Given the description of an element on the screen output the (x, y) to click on. 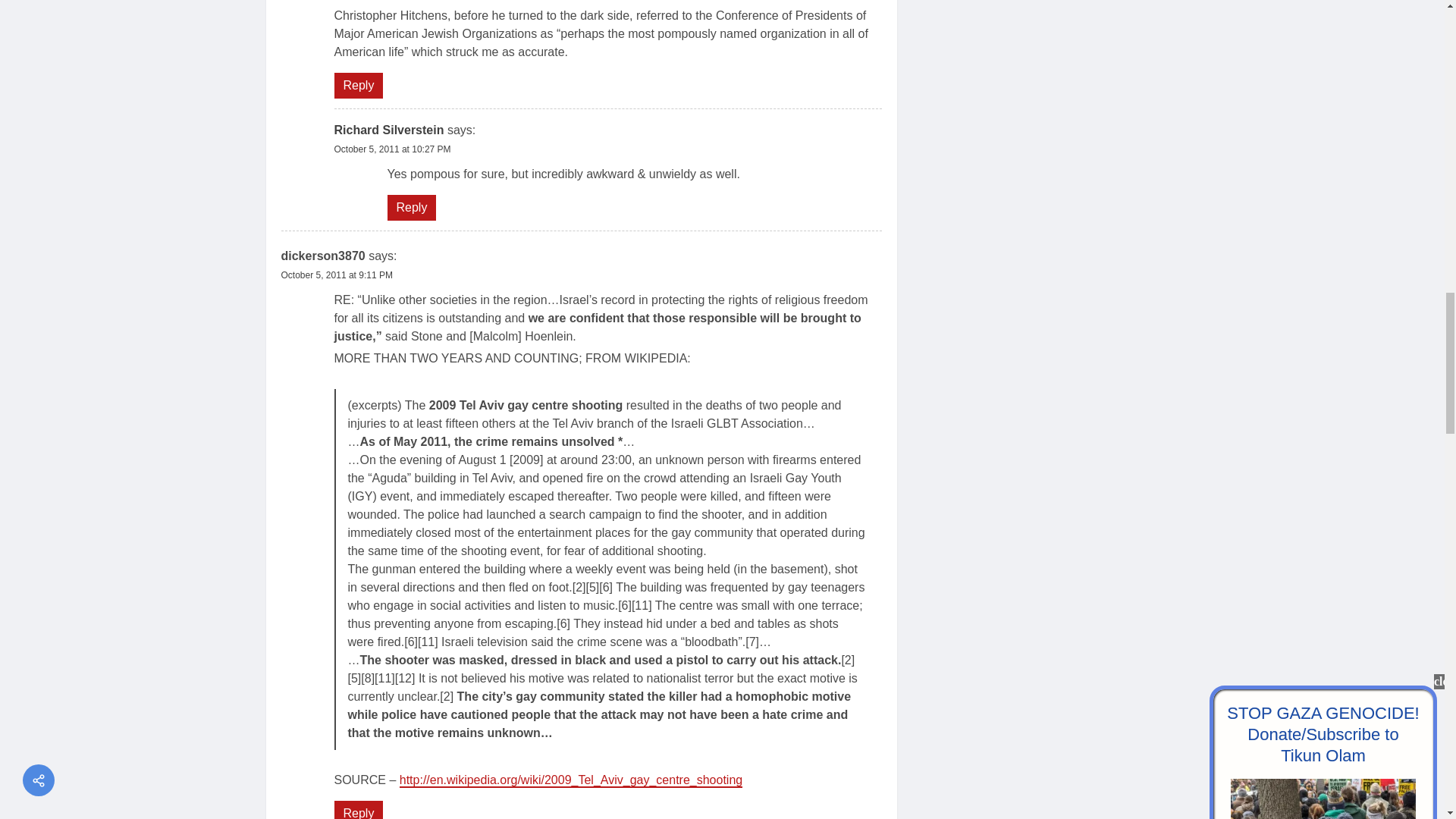
Richard Silverstein (388, 129)
October 5, 2011 at 10:27 PM (391, 149)
Reply (411, 207)
Reply (357, 85)
